Given the description of an element on the screen output the (x, y) to click on. 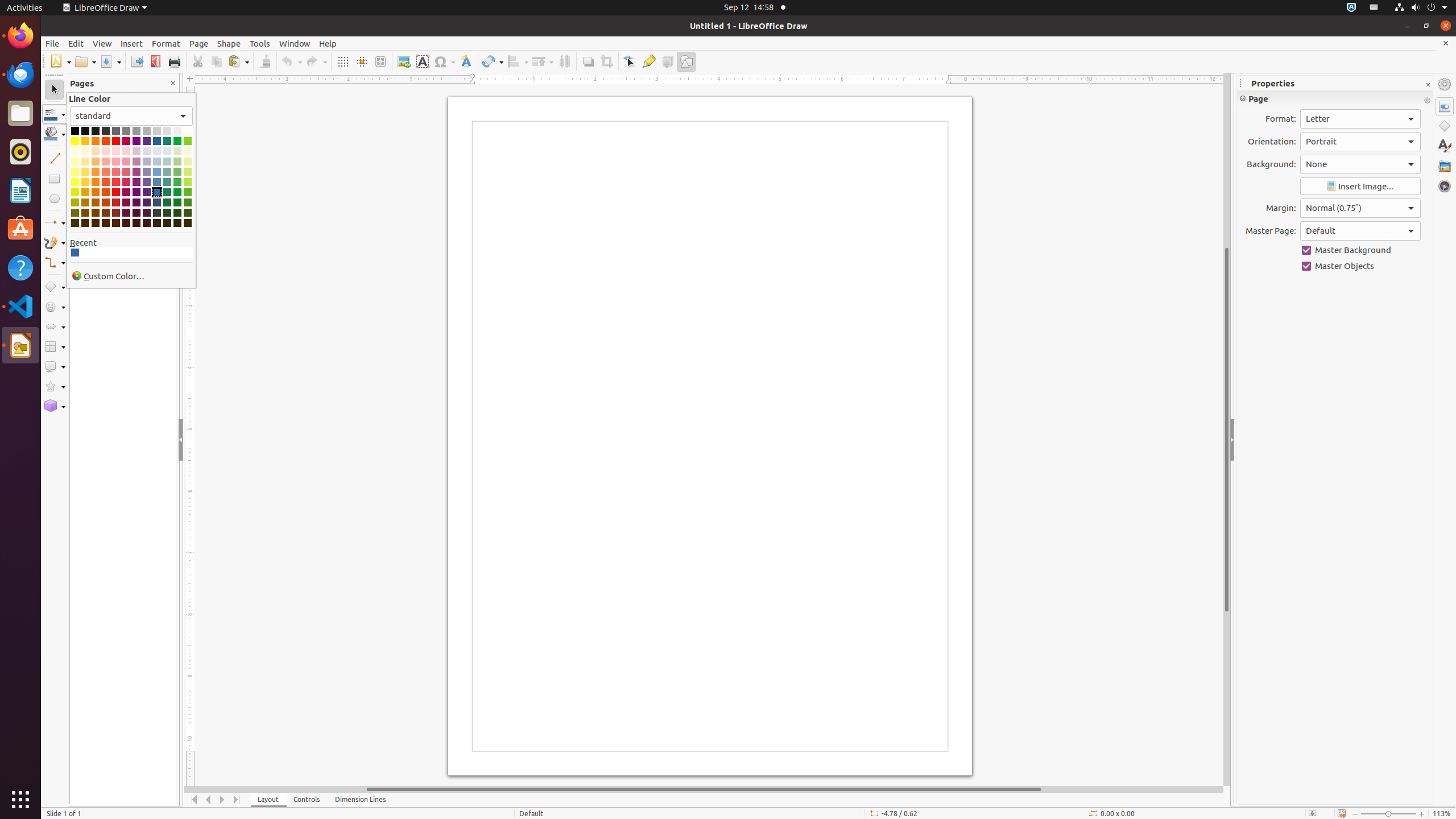
Layout Element type: page-tab (268, 799)
Dark Green 3 Element type: list-item (177, 212)
Align Element type: push-button (517, 61)
Light Teal 4 Element type: list-item (167, 151)
Light Gray 4 Element type: list-item (167, 130)
